Given the description of an element on the screen output the (x, y) to click on. 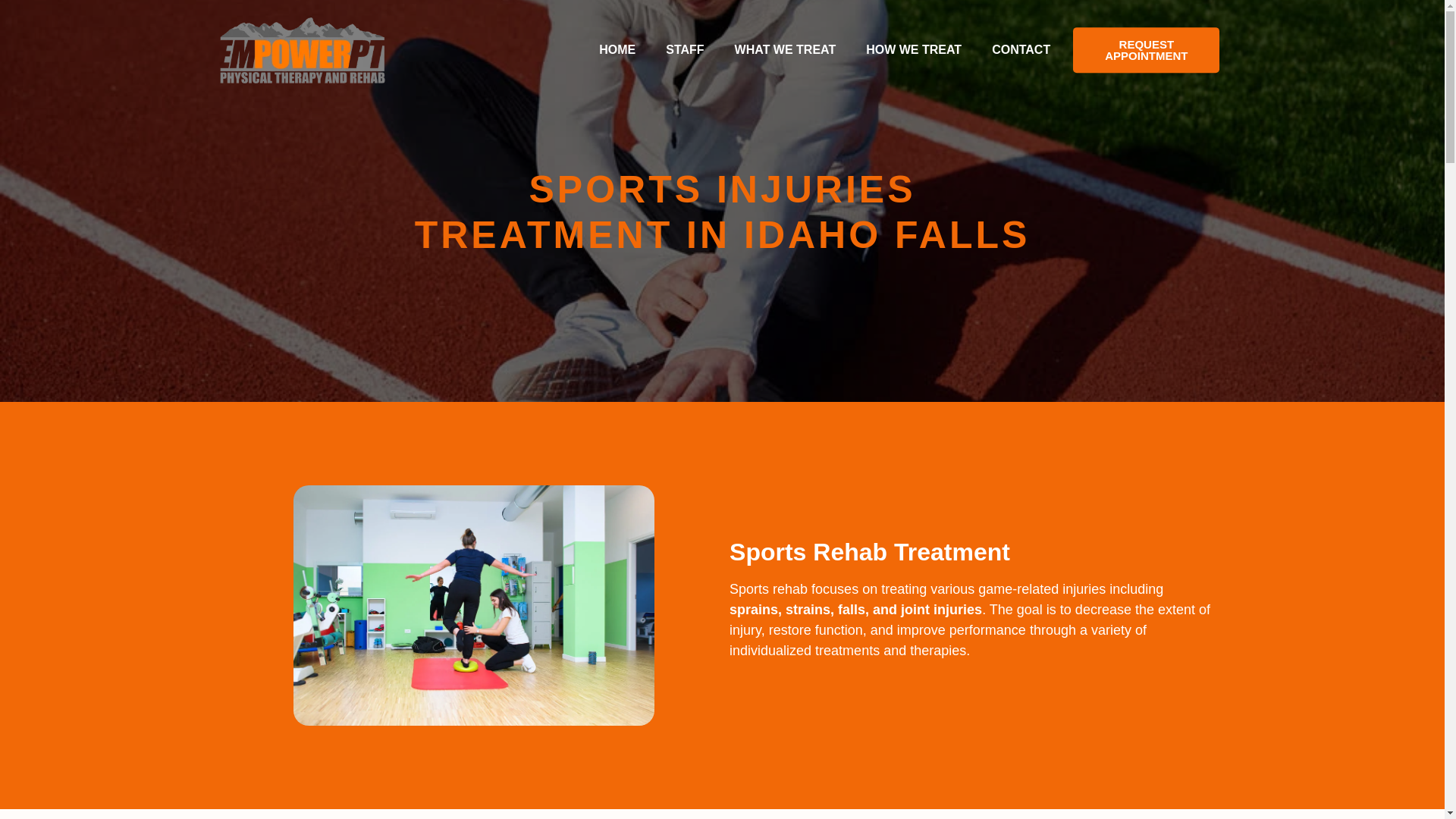
HOME (616, 49)
CONTACT (1020, 49)
STAFF (684, 49)
WHAT WE TREAT (785, 49)
HOW WE TREAT (913, 49)
